Given the description of an element on the screen output the (x, y) to click on. 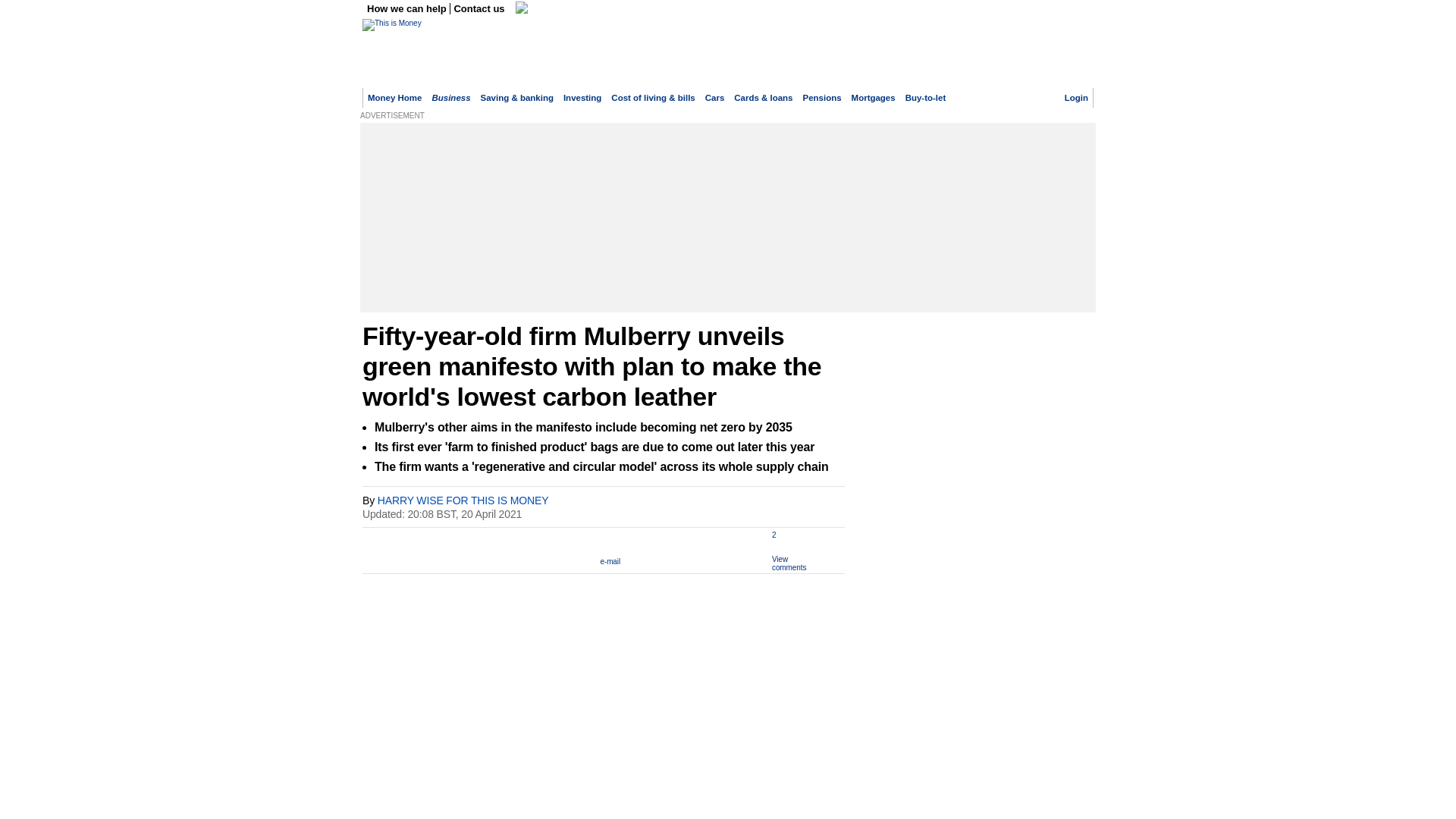
Contact us (479, 8)
Business (450, 97)
Login (1075, 97)
Mortgages (873, 97)
Cars (714, 97)
How we can help (407, 8)
Money Home (395, 97)
Pensions (822, 97)
Buy-to-let (925, 97)
Investing (582, 97)
